Given the description of an element on the screen output the (x, y) to click on. 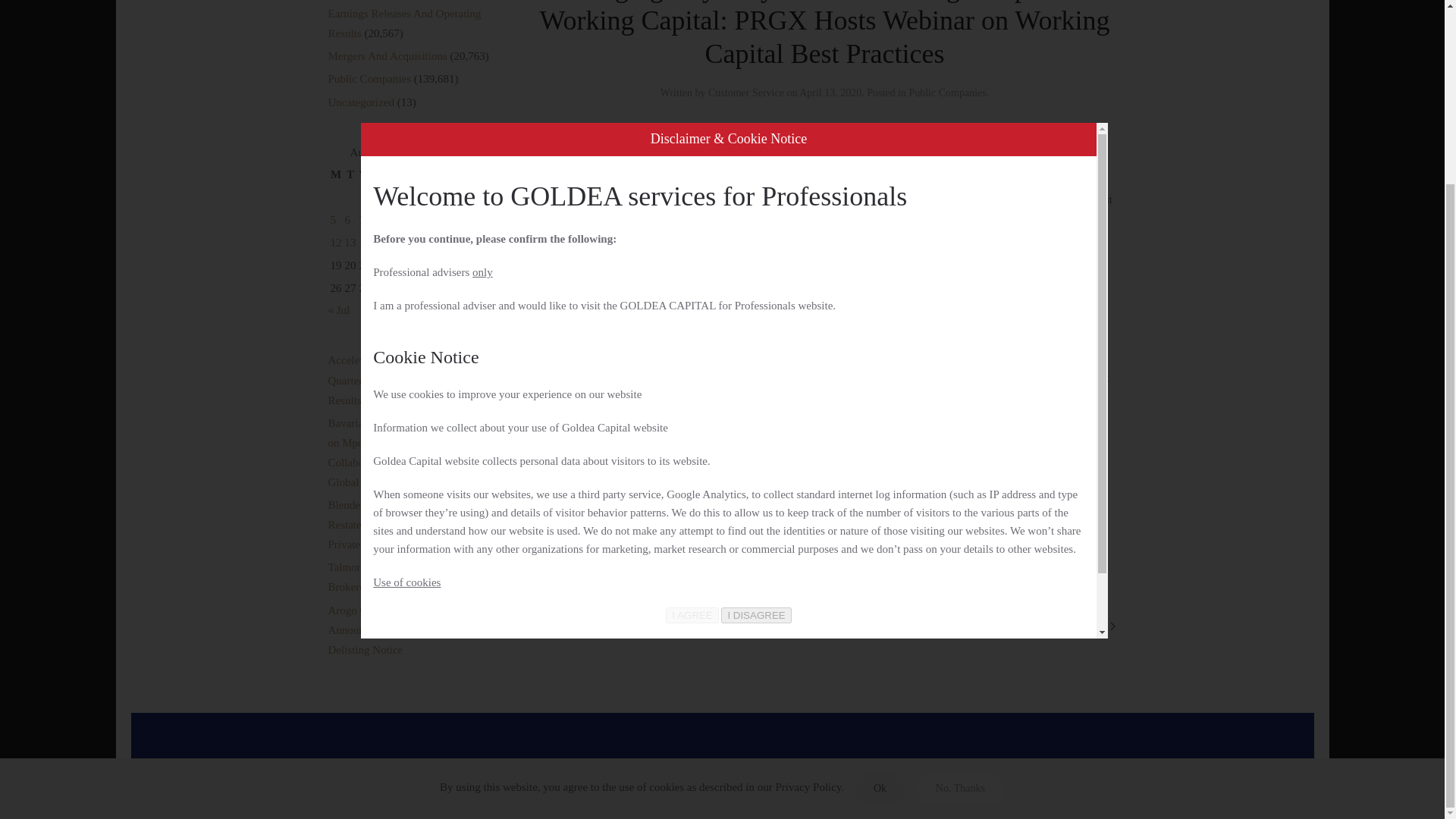
I DISAGREE (755, 388)
Customer Service (745, 92)
Public Companies (368, 78)
Previous (553, 626)
Mergers And Acquisitions (386, 55)
Earnings Releases And Operating Results (403, 23)
I AGREE (691, 388)
Next (1101, 626)
Public Companies (946, 92)
Uncategorized (360, 102)
